Given the description of an element on the screen output the (x, y) to click on. 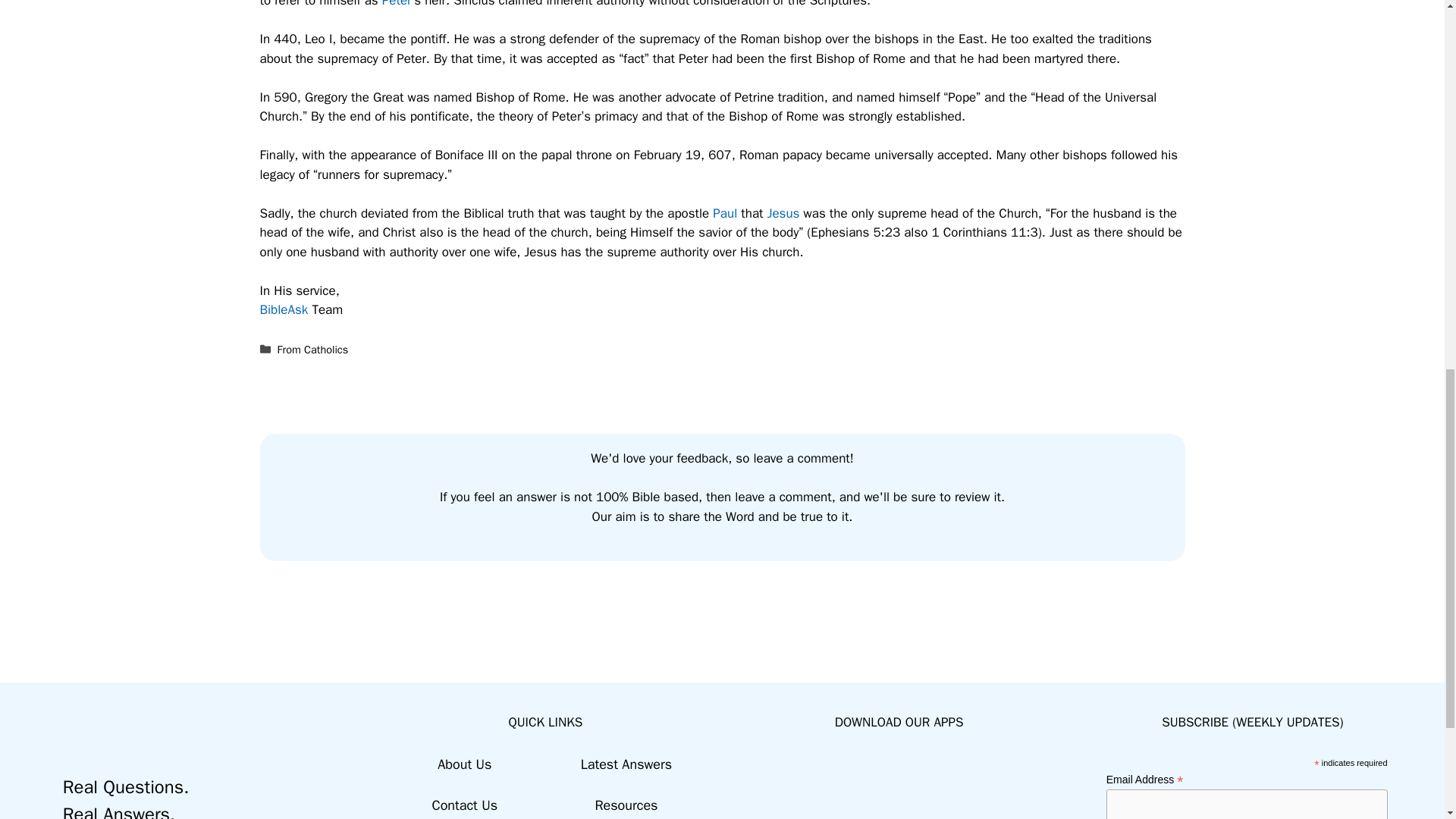
BibleAsk (283, 309)
Paul (724, 213)
Peter (396, 4)
Jesus (783, 213)
